Given the description of an element on the screen output the (x, y) to click on. 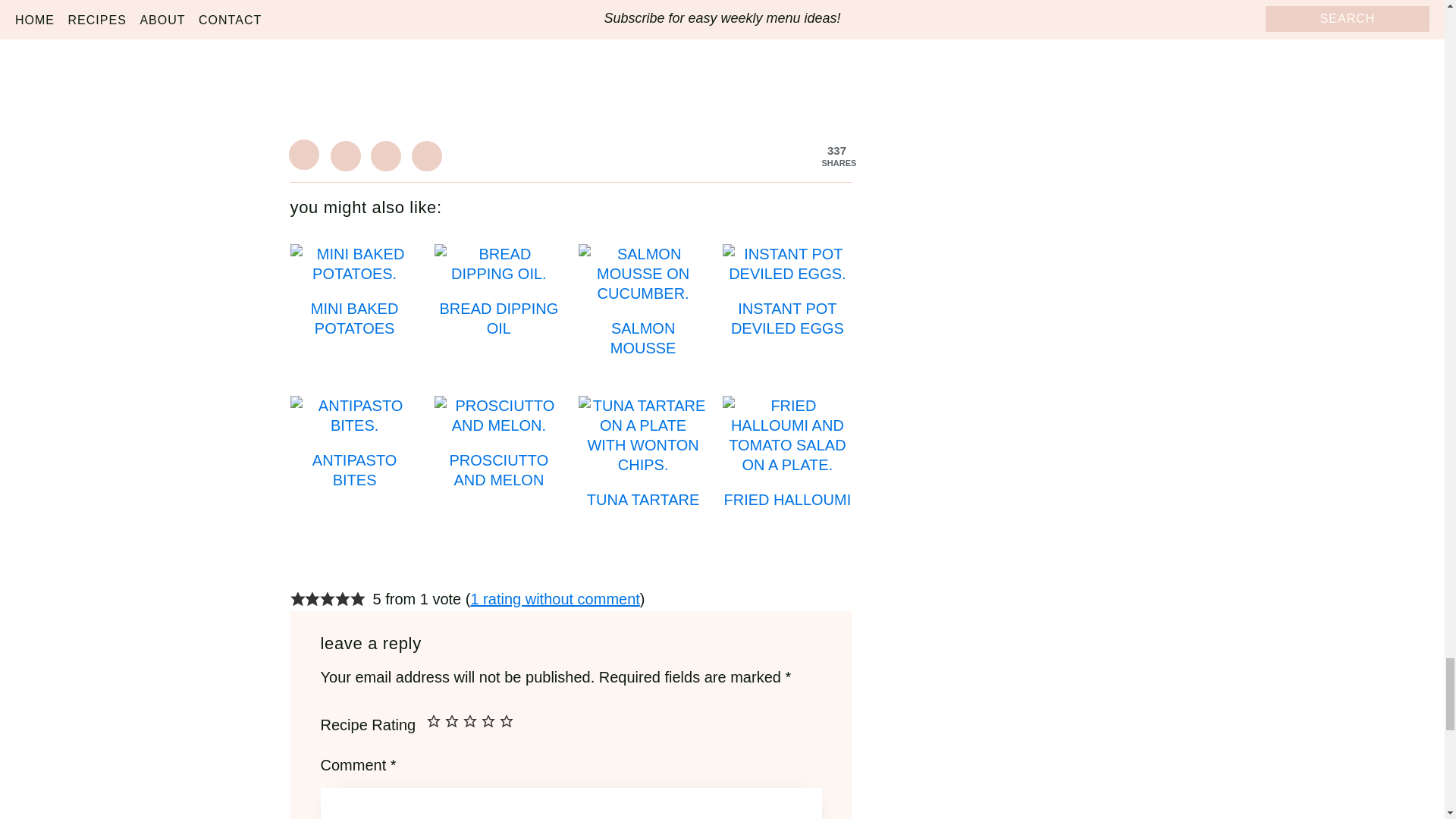
Share on Facebook (345, 155)
Save to Pinterest (304, 155)
Share on Yummly (427, 155)
Share on X (386, 155)
